Given the description of an element on the screen output the (x, y) to click on. 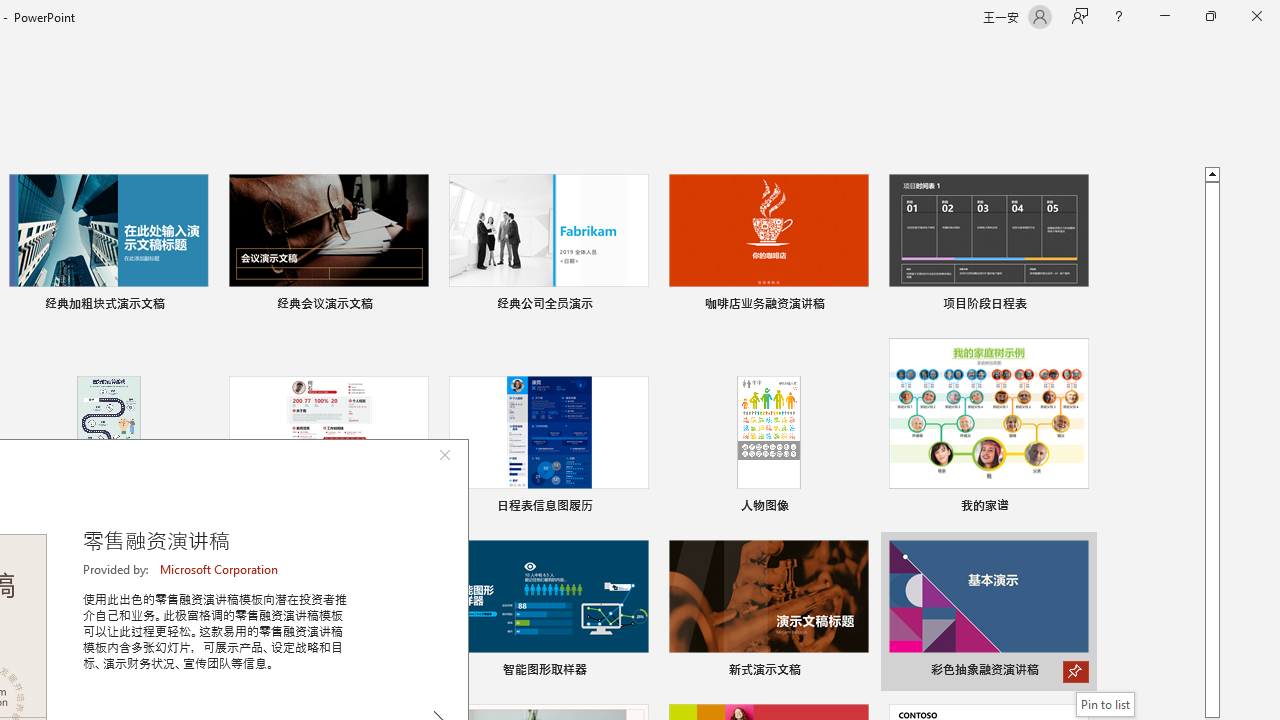
Pin to list (1105, 704)
Pin to list (1075, 671)
